Given the description of an element on the screen output the (x, y) to click on. 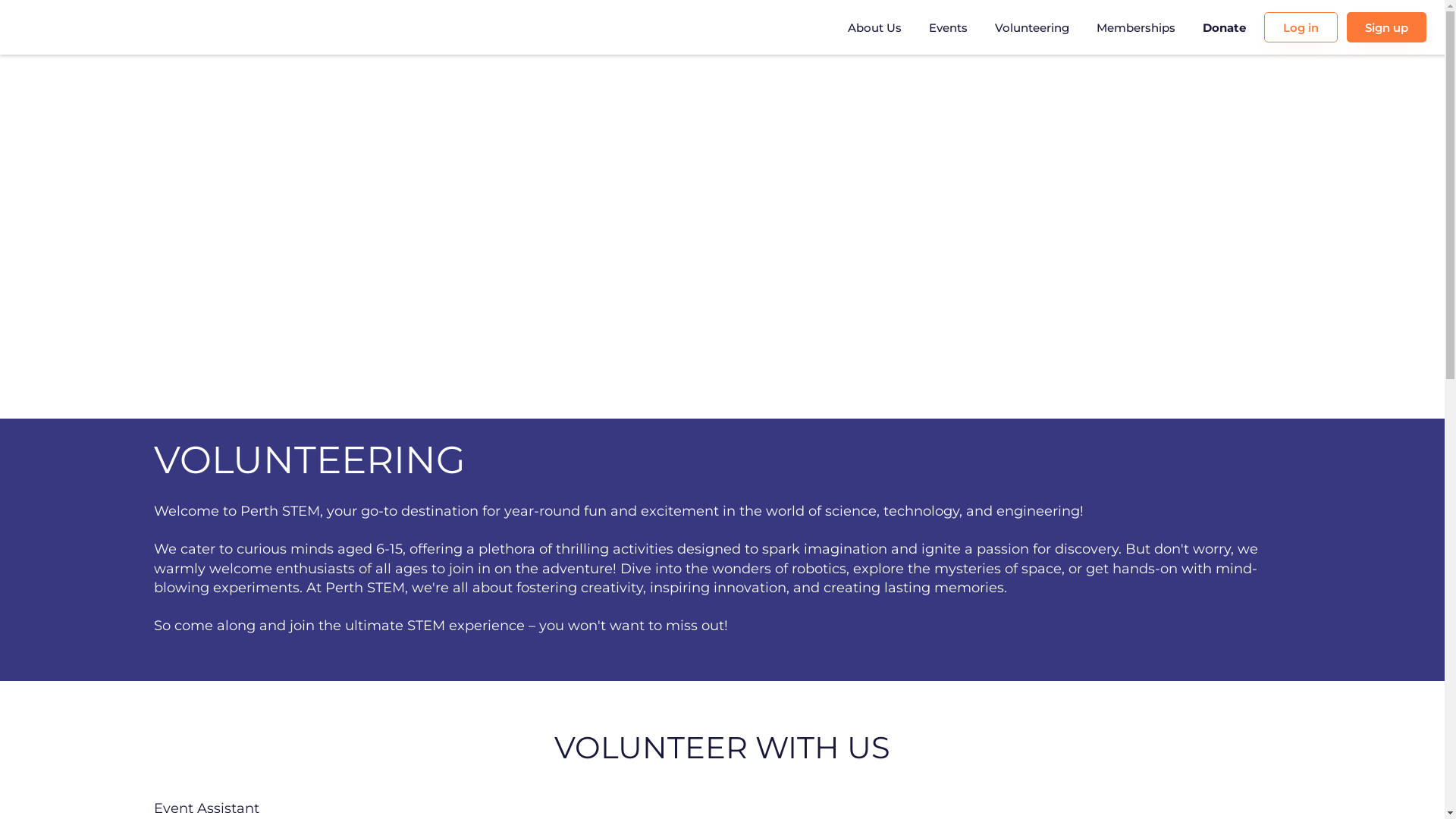
Log in Element type: text (1300, 27)
Events Element type: text (947, 27)
Donate Element type: text (1224, 27)
About Us Element type: text (874, 27)
Memberships Element type: text (1135, 27)
Volunteering Element type: text (1031, 27)
Sign up Element type: text (1386, 27)
